Given the description of an element on the screen output the (x, y) to click on. 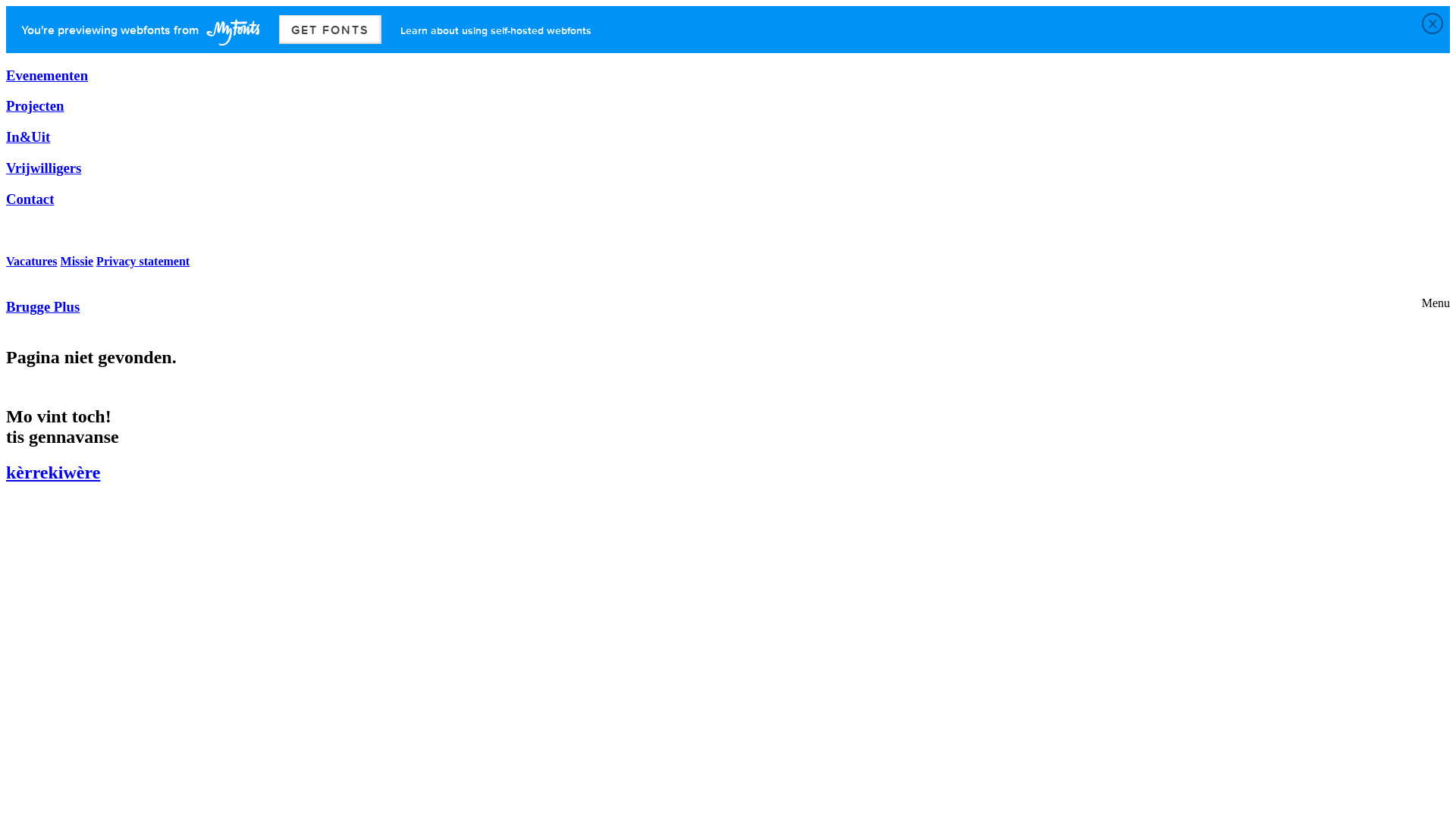
Contact Element type: text (29, 199)
x Element type: text (1432, 23)
Privacy statement Element type: text (142, 260)
In&Uit Element type: text (28, 136)
Brugge Plus Element type: text (42, 306)
Missie Element type: text (77, 260)
Vacatures Element type: text (31, 260)
Vrijwilligers Element type: text (43, 167)
Learn about using self-hosted webfonts Element type: text (495, 30)
Evenementen Element type: text (46, 75)
Projecten Element type: text (35, 105)
GET FONTS Element type: text (330, 29)
Menu Element type: text (1435, 302)
